Given the description of an element on the screen output the (x, y) to click on. 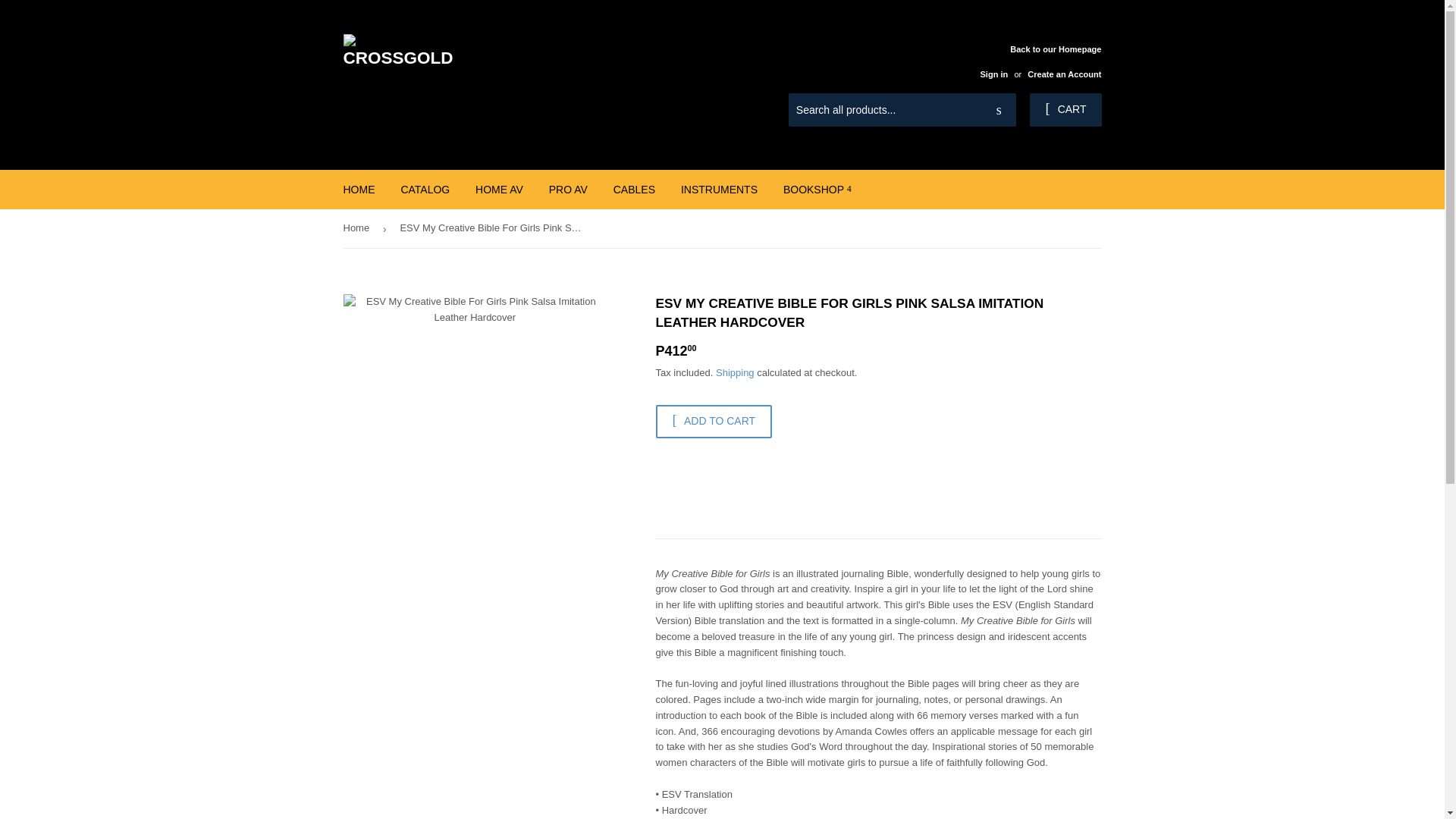
Shipping (735, 372)
Search (998, 110)
HOME AV (499, 189)
HOME (359, 189)
Back to the frontpage (358, 228)
CATALOG (424, 189)
CABLES (634, 189)
PRO AV (567, 189)
CART (1064, 109)
Sign in (993, 73)
BOOKSHOP (817, 189)
Back to our Homepage (1034, 60)
Home (358, 228)
INSTRUMENTS (718, 189)
Create an Account (1063, 73)
